Given the description of an element on the screen output the (x, y) to click on. 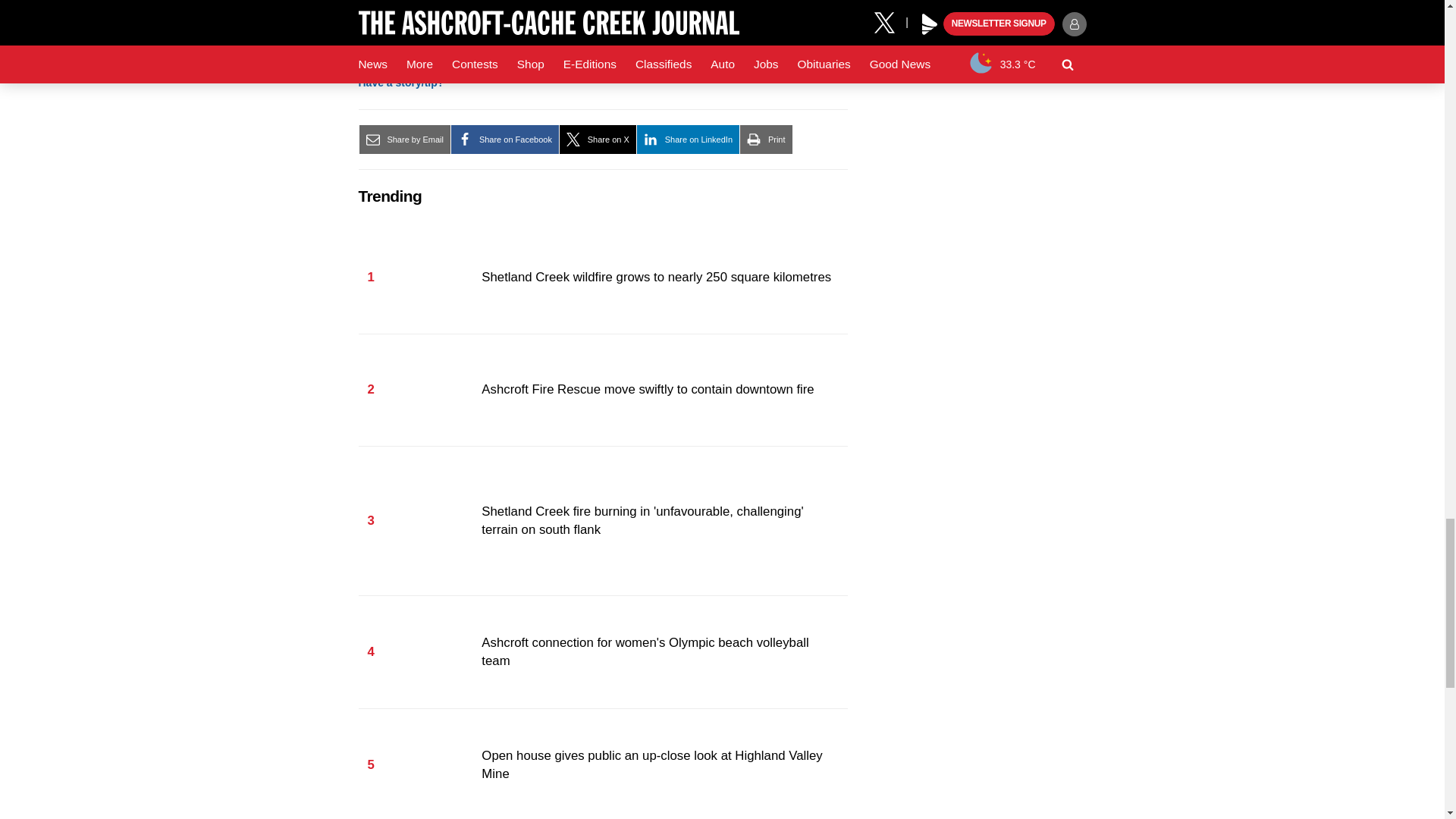
related story (574, 13)
